Given the description of an element on the screen output the (x, y) to click on. 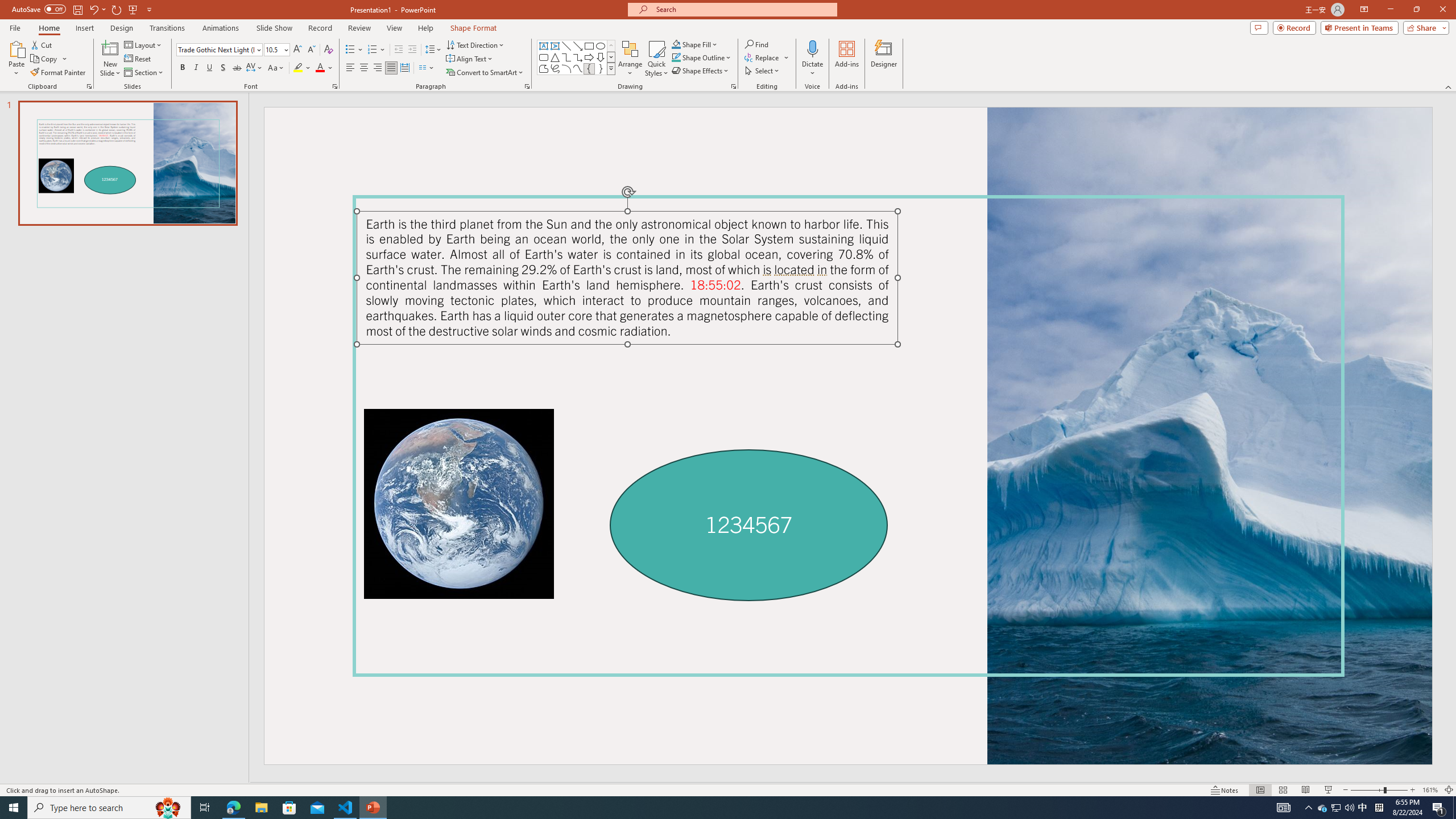
Text Box (543, 45)
Vertical Text Box (554, 45)
Cut (42, 44)
Format Object... (733, 85)
Text Highlight Color Yellow (297, 67)
Justify (390, 67)
Row up (611, 45)
